Given the description of an element on the screen output the (x, y) to click on. 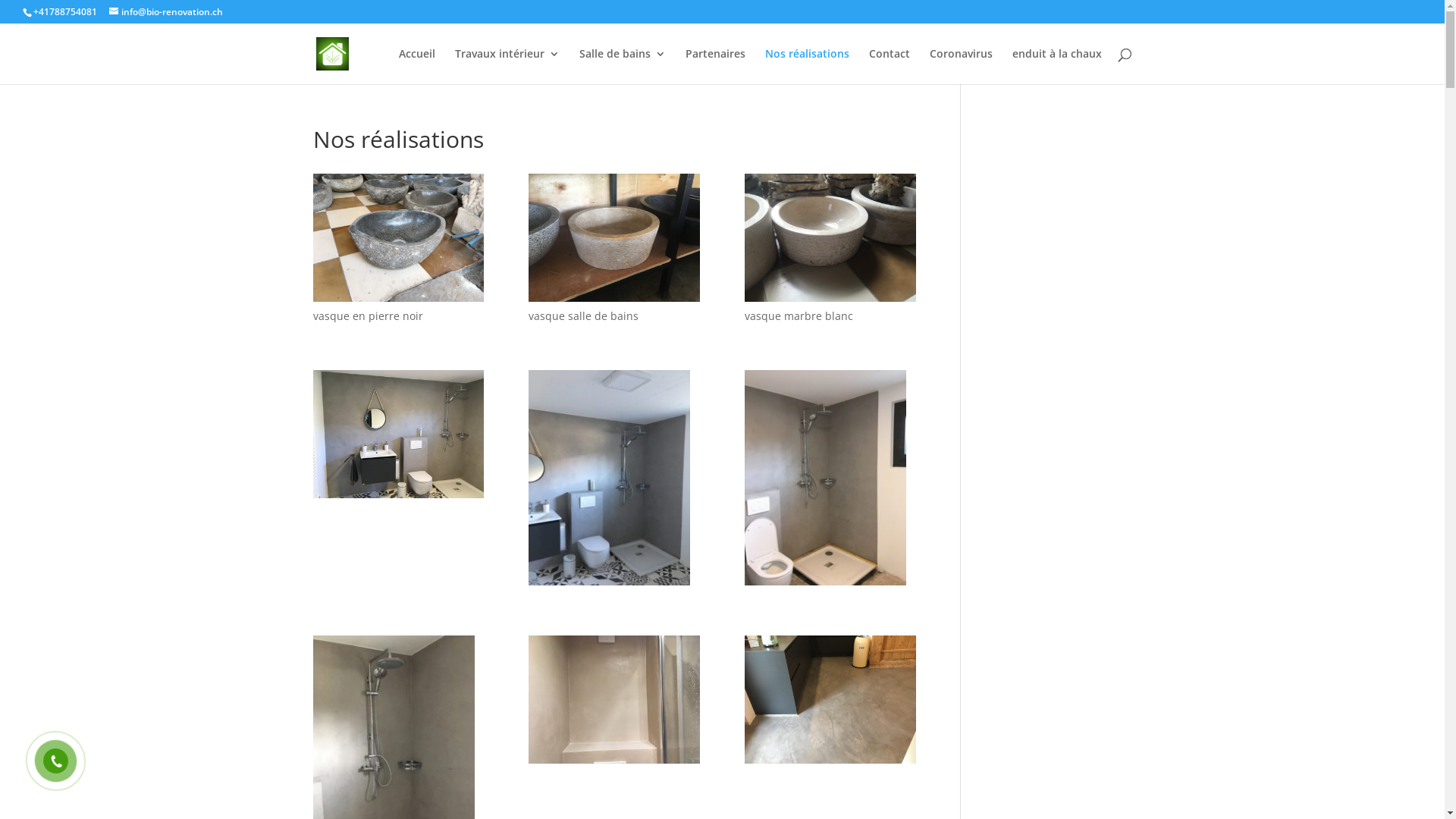
IMG_8691 Element type: hover (829, 480)
vasque pierre riviere Element type: hover (397, 240)
Salle de bains Element type: text (622, 66)
info@bio-renovation.ch Element type: text (165, 11)
Accueil Element type: text (416, 66)
IMG_9930 Element type: hover (829, 701)
Partenaires Element type: text (715, 66)
IMG_9360 Element type: hover (829, 240)
IMG_9378 Element type: hover (613, 240)
IMG_8763 Element type: hover (613, 480)
Contact Element type: text (889, 66)
Coronavirus Element type: text (960, 66)
IMG_8765 Element type: hover (397, 436)
IMG_8637 Element type: hover (613, 701)
